Given the description of an element on the screen output the (x, y) to click on. 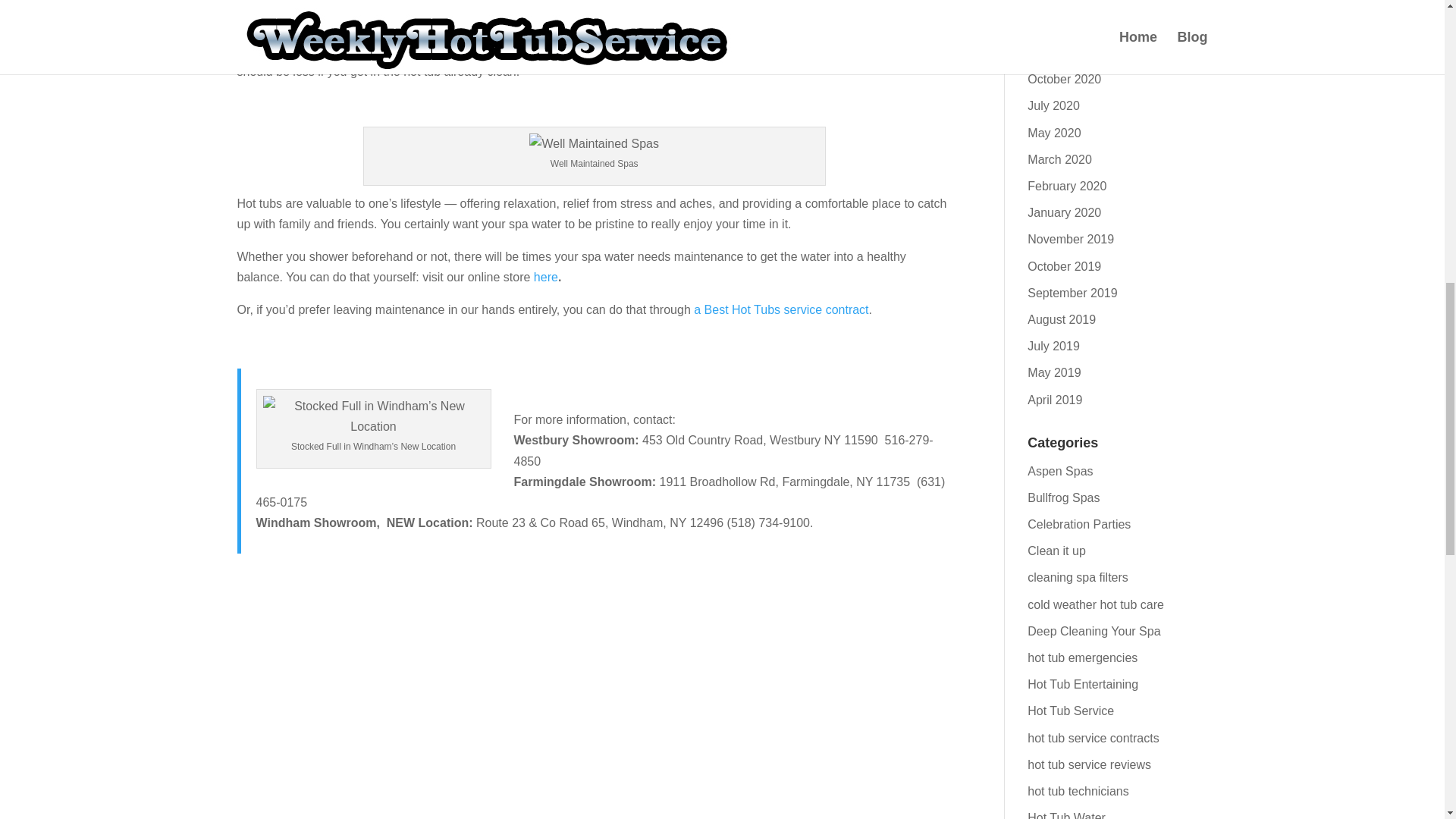
March 2021 (1059, 25)
May 2020 (1053, 132)
February 2020 (1066, 185)
October 2020 (1063, 78)
February 2021 (1066, 51)
March 2020 (1059, 159)
a Best Hot Tubs service contract (780, 309)
here (545, 277)
May 2021 (1053, 2)
July 2020 (1053, 105)
